Given the description of an element on the screen output the (x, y) to click on. 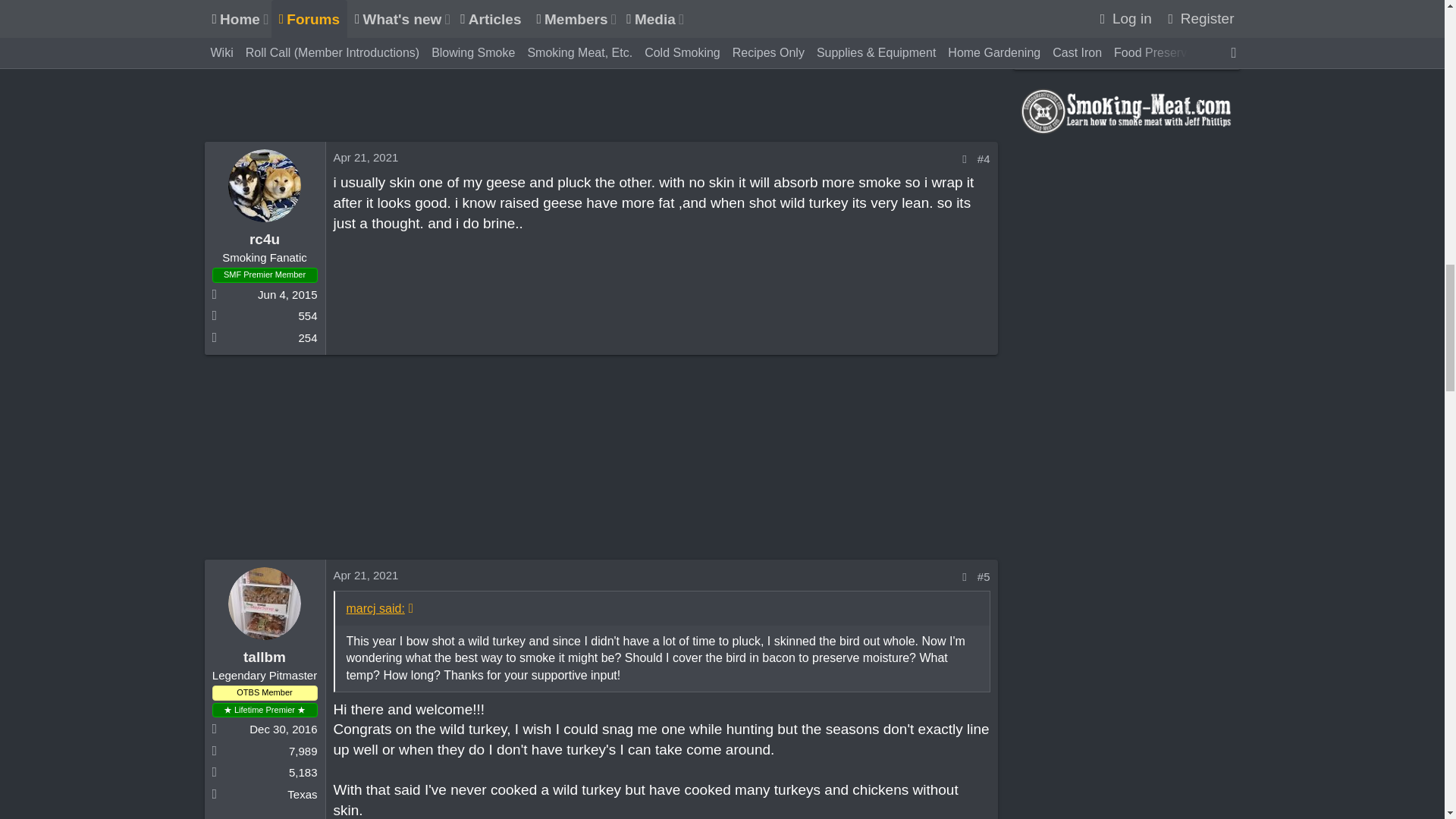
Apr 21, 2021 at 11:33 AM (365, 156)
Apr 21, 2021 at 1:39 PM (365, 574)
